Given the description of an element on the screen output the (x, y) to click on. 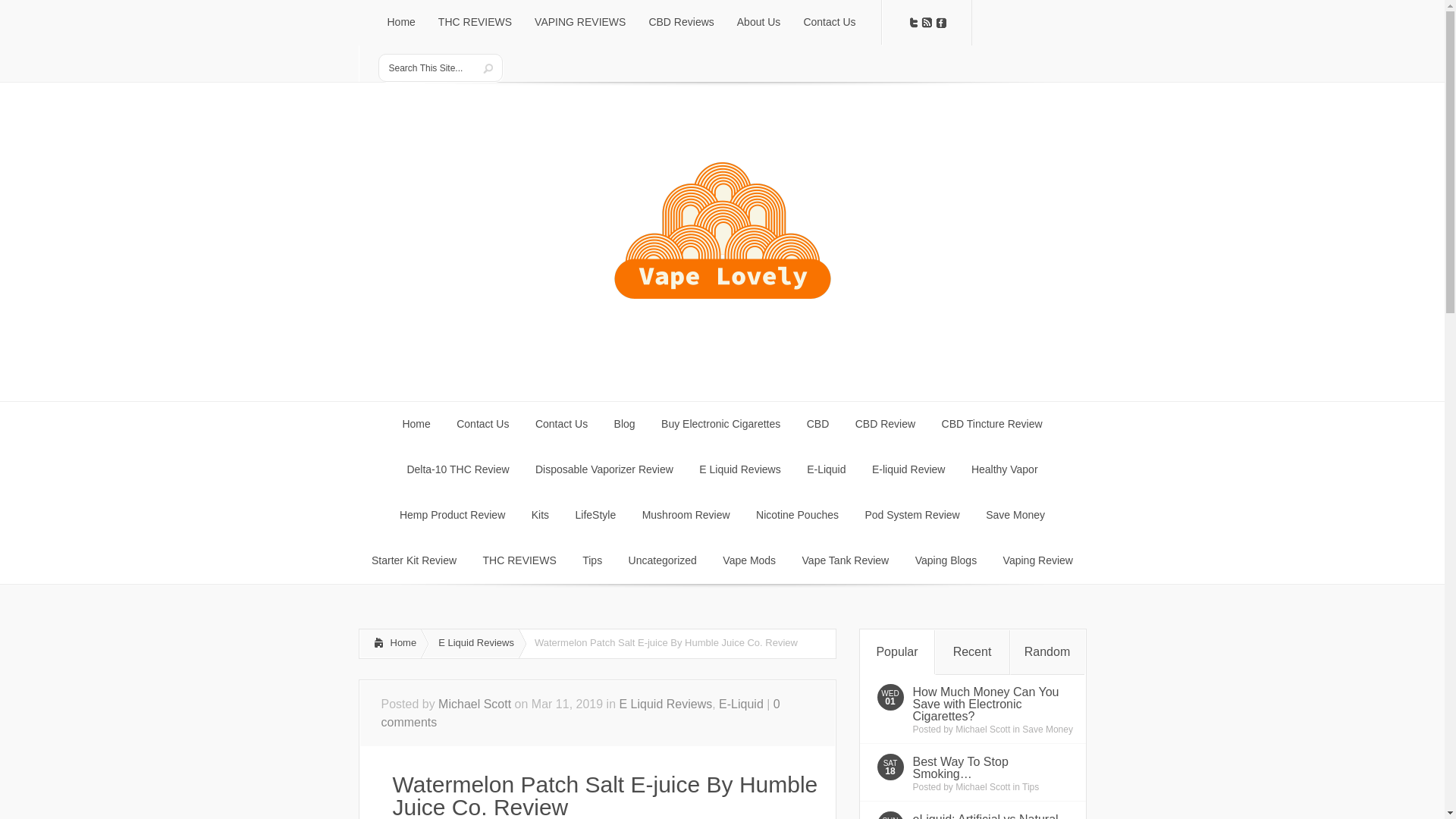
Home (400, 22)
Posts by Michael Scott (982, 728)
CBD Reviews (681, 22)
Search This Site... (427, 68)
VAPING REVIEWS (579, 22)
Posts by Michael Scott (474, 703)
Contact Us (829, 22)
Posts by Michael Scott (982, 787)
THC REVIEWS (474, 22)
About Us (758, 22)
